Given the description of an element on the screen output the (x, y) to click on. 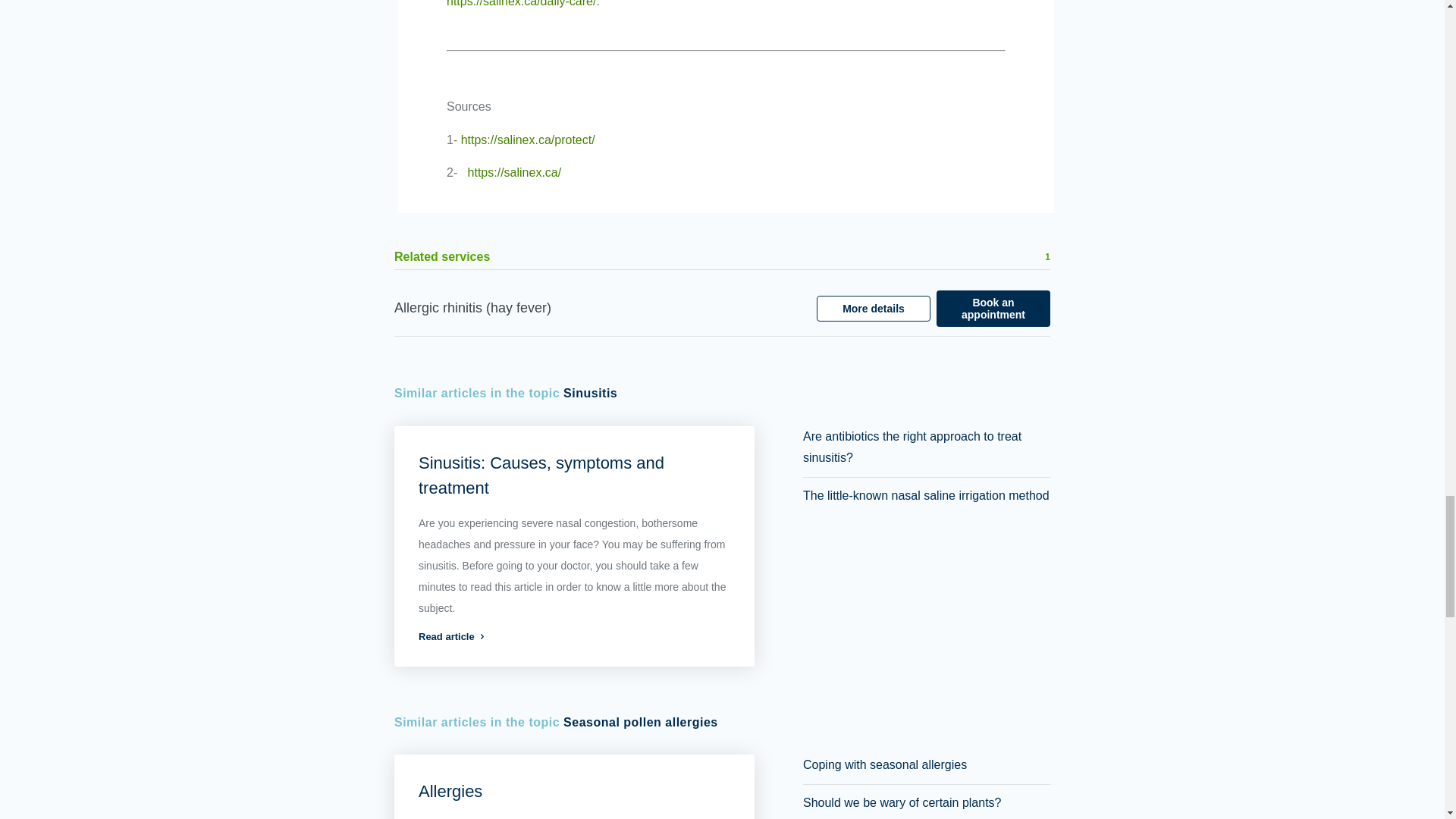
Seasonal pollen allergies (640, 722)
Are antibiotics the right approach to treat sinusitis? (912, 446)
Sinusitis (590, 393)
Coping with seasonal allergies (884, 764)
More details (873, 308)
Book an appointment (992, 308)
Allergies (450, 791)
The little-known nasal saline irrigation method (926, 495)
Read article (574, 636)
Sinusitis: Causes, symptoms and treatment (541, 475)
